Given the description of an element on the screen output the (x, y) to click on. 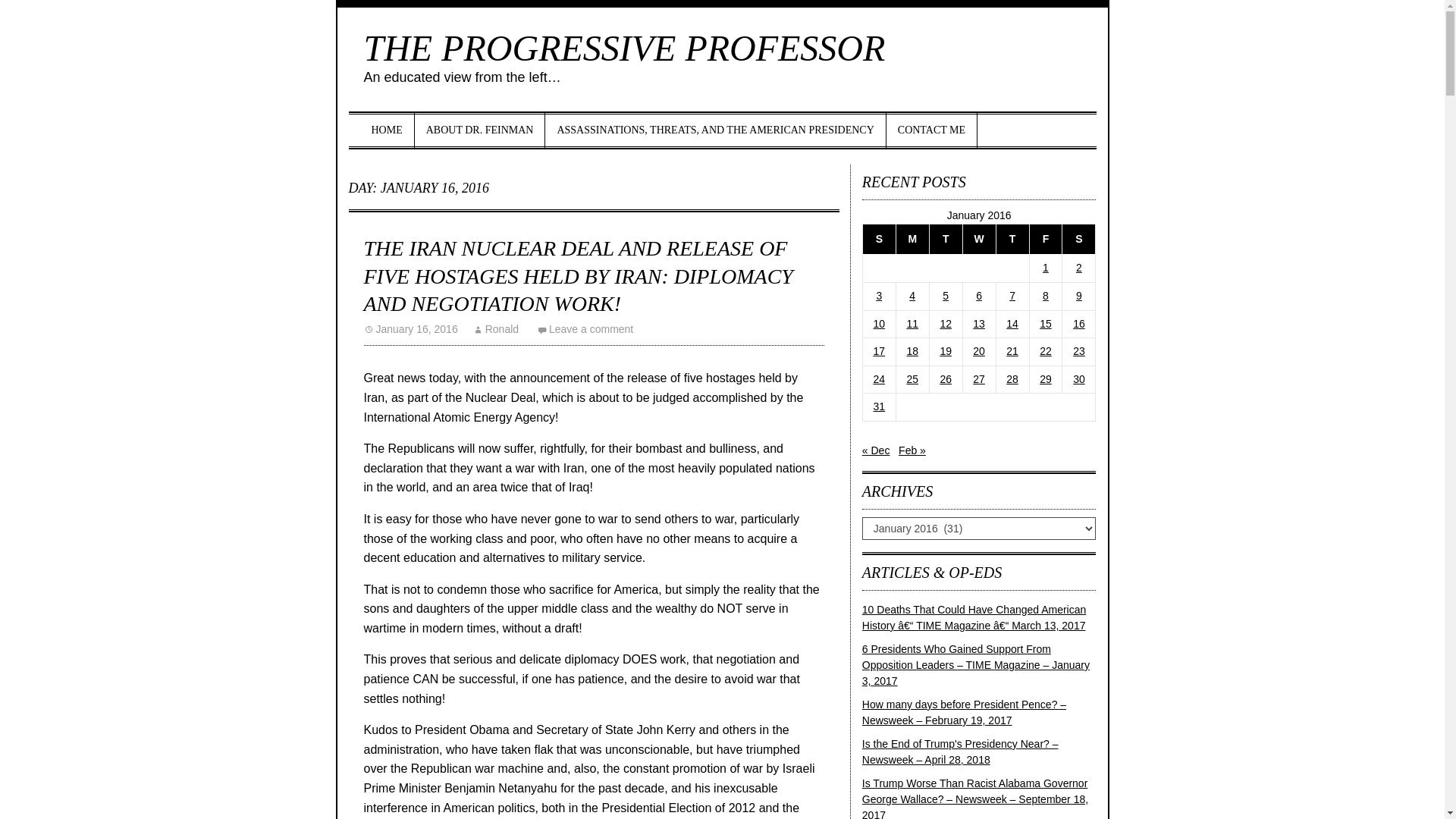
ABOUT DR. FEINMAN (480, 130)
Wednesday (978, 238)
View all posts by Ronald (495, 328)
January 16, 2016 (411, 328)
HOME (386, 130)
Assassinations, Threats, and the American Presidency (714, 130)
Sunday (878, 238)
Leave a comment (585, 328)
Contact Me (931, 130)
11 (911, 323)
